Given the description of an element on the screen output the (x, y) to click on. 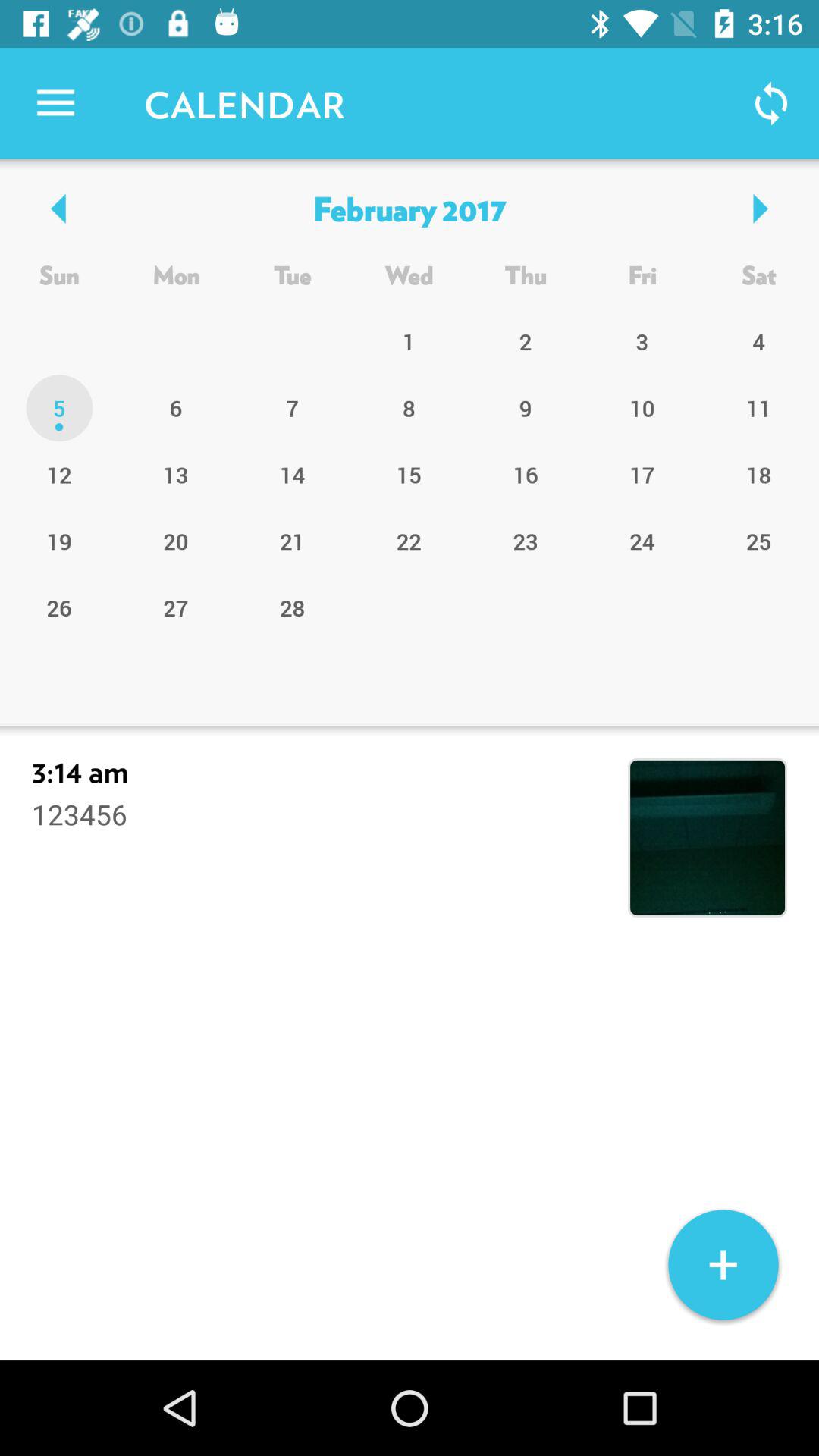
open the february 2017 item (408, 208)
